Given the description of an element on the screen output the (x, y) to click on. 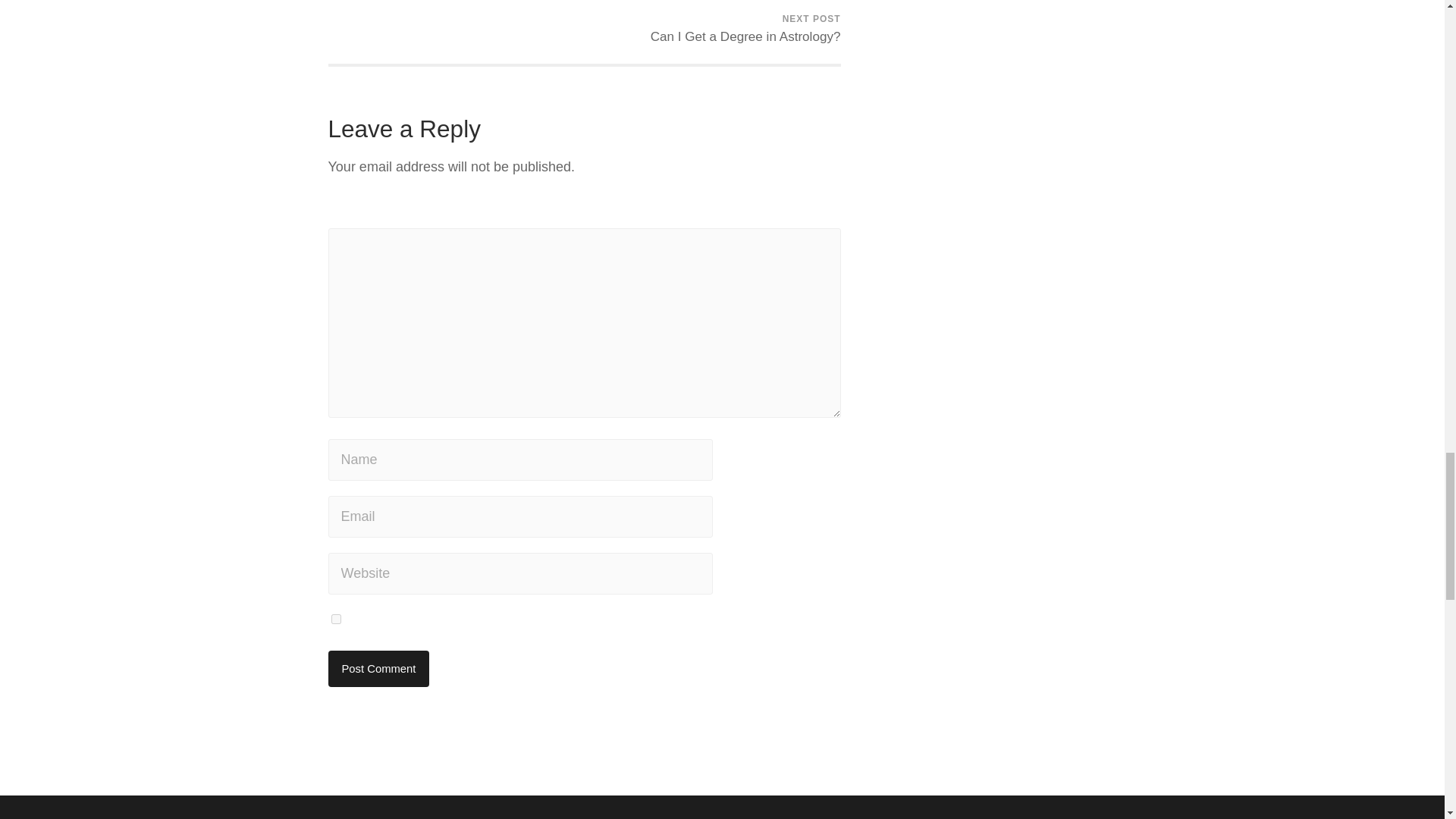
Post Comment (378, 668)
Post Comment (378, 668)
Next post: Can I Get a Degree in Astrology? (745, 31)
yes (745, 31)
